Given the description of an element on the screen output the (x, y) to click on. 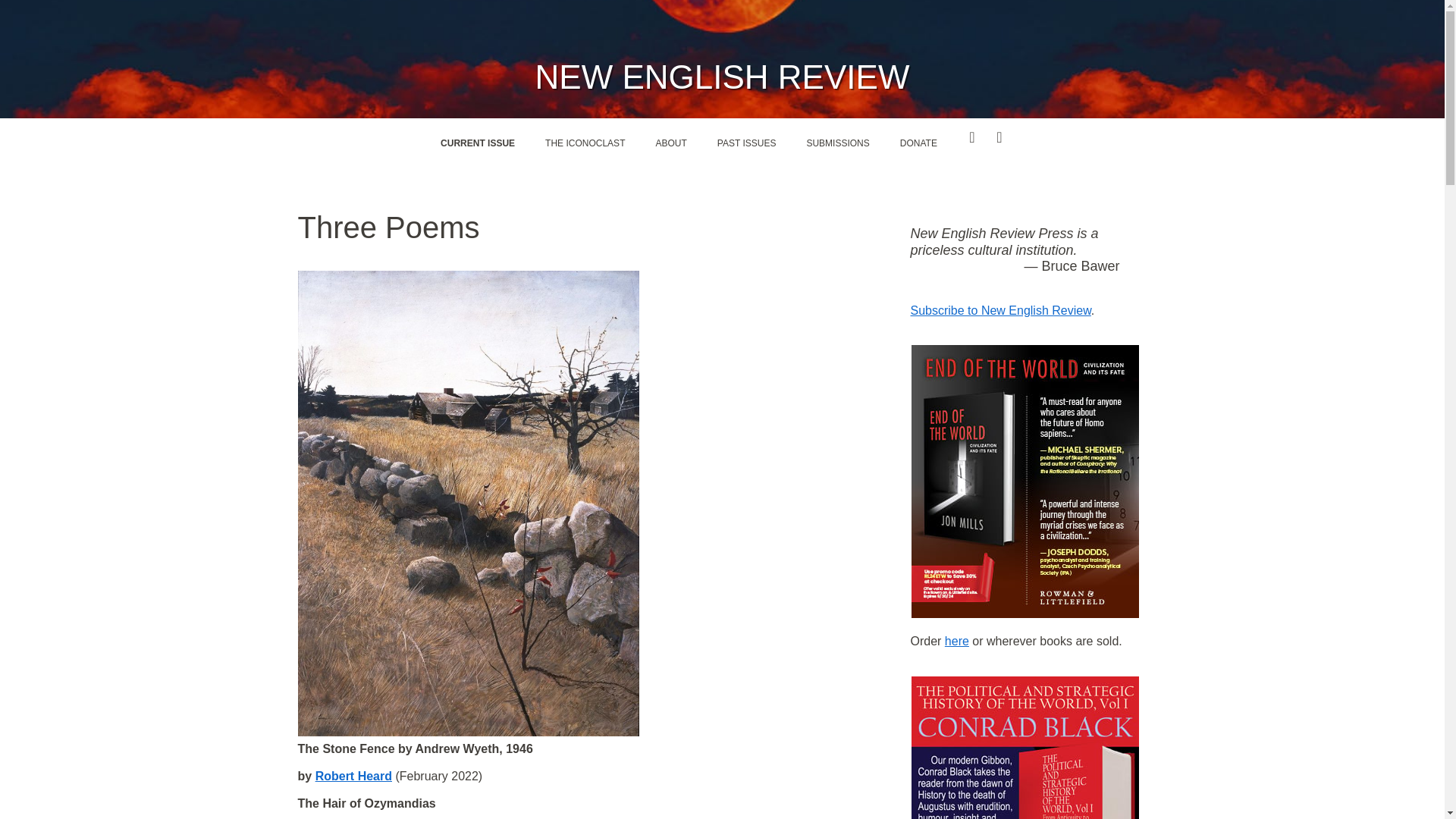
Robert Heard (353, 775)
CURRENT ISSUE (477, 143)
PAST ISSUES (746, 143)
SUBMISSIONS (836, 143)
THE ICONOCLAST (584, 143)
ABOUT (670, 143)
NEW ENGLISH REVIEW (722, 76)
DONATE (918, 143)
